Given the description of an element on the screen output the (x, y) to click on. 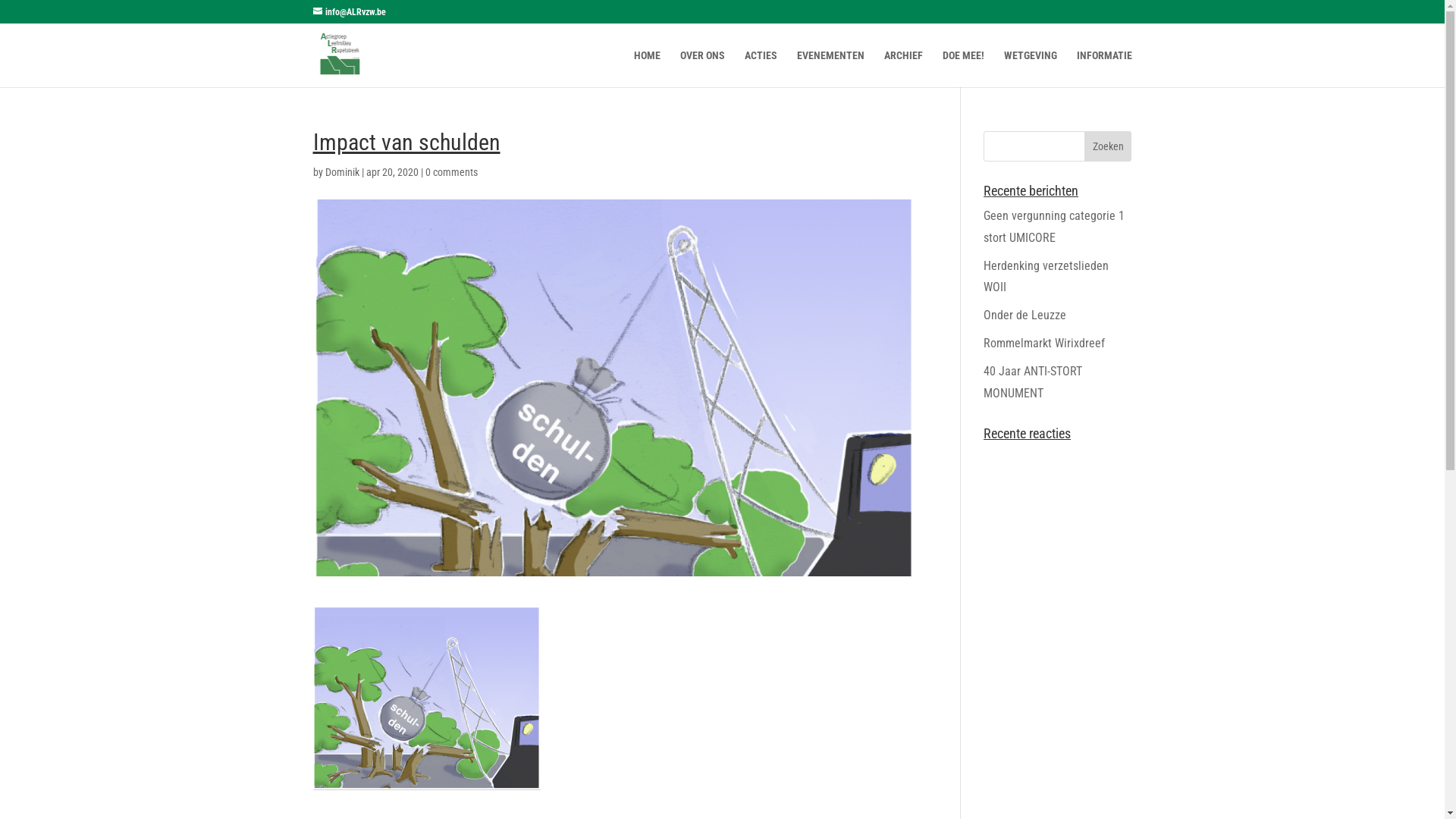
Onder de Leuzze Element type: text (1024, 314)
Dominik Element type: text (341, 172)
OVER ONS Element type: text (701, 68)
WETGEVING Element type: text (1030, 68)
info@ALRvzw.be Element type: text (348, 11)
ARCHIEF Element type: text (903, 68)
40 Jaar ANTI-STORT MONUMENT Element type: text (1032, 382)
Herdenking verzetslieden WOII Element type: text (1045, 276)
EVENEMENTEN Element type: text (829, 68)
DOE MEE! Element type: text (962, 68)
Zoeken Element type: text (1108, 146)
ACTIES Element type: text (760, 68)
INFORMATIE Element type: text (1104, 68)
HOME Element type: text (646, 68)
0 comments Element type: text (450, 172)
Geen vergunning categorie 1 stort UMICORE Element type: text (1053, 226)
Rommelmarkt Wirixdreef Element type: text (1043, 342)
